Given the description of an element on the screen output the (x, y) to click on. 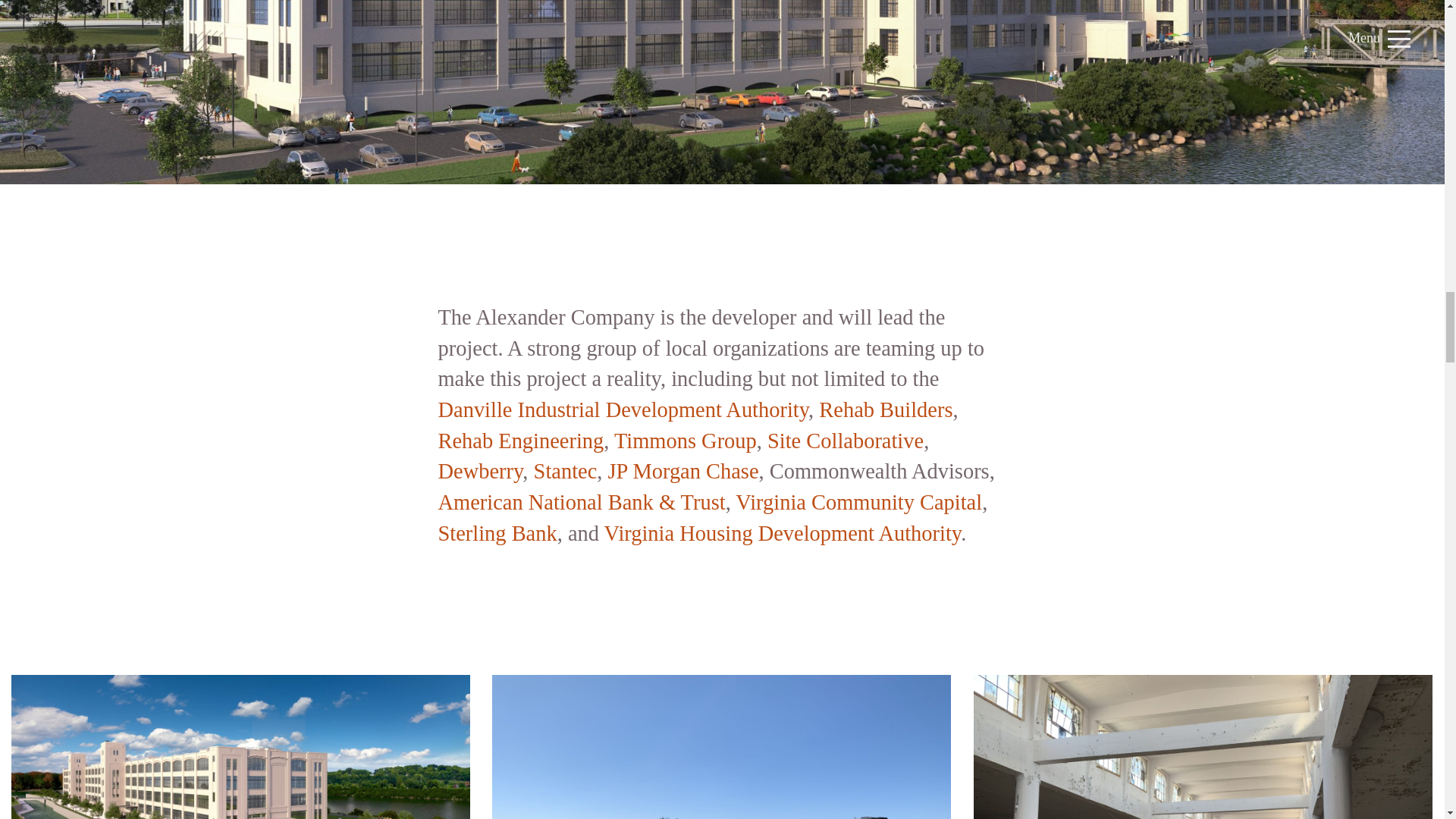
Rehab Builders (885, 409)
Timmons Group (685, 440)
Danville Industrial Development Authority (623, 409)
Site Collaborative (845, 440)
Sterling Bank (497, 533)
JP Morgan Chase (683, 471)
Stantec (565, 471)
Dewberry (480, 471)
Virginia Community Capital (858, 502)
Virginia Housing Development Authority (782, 533)
Rehab Engineering (521, 440)
